Given the description of an element on the screen output the (x, y) to click on. 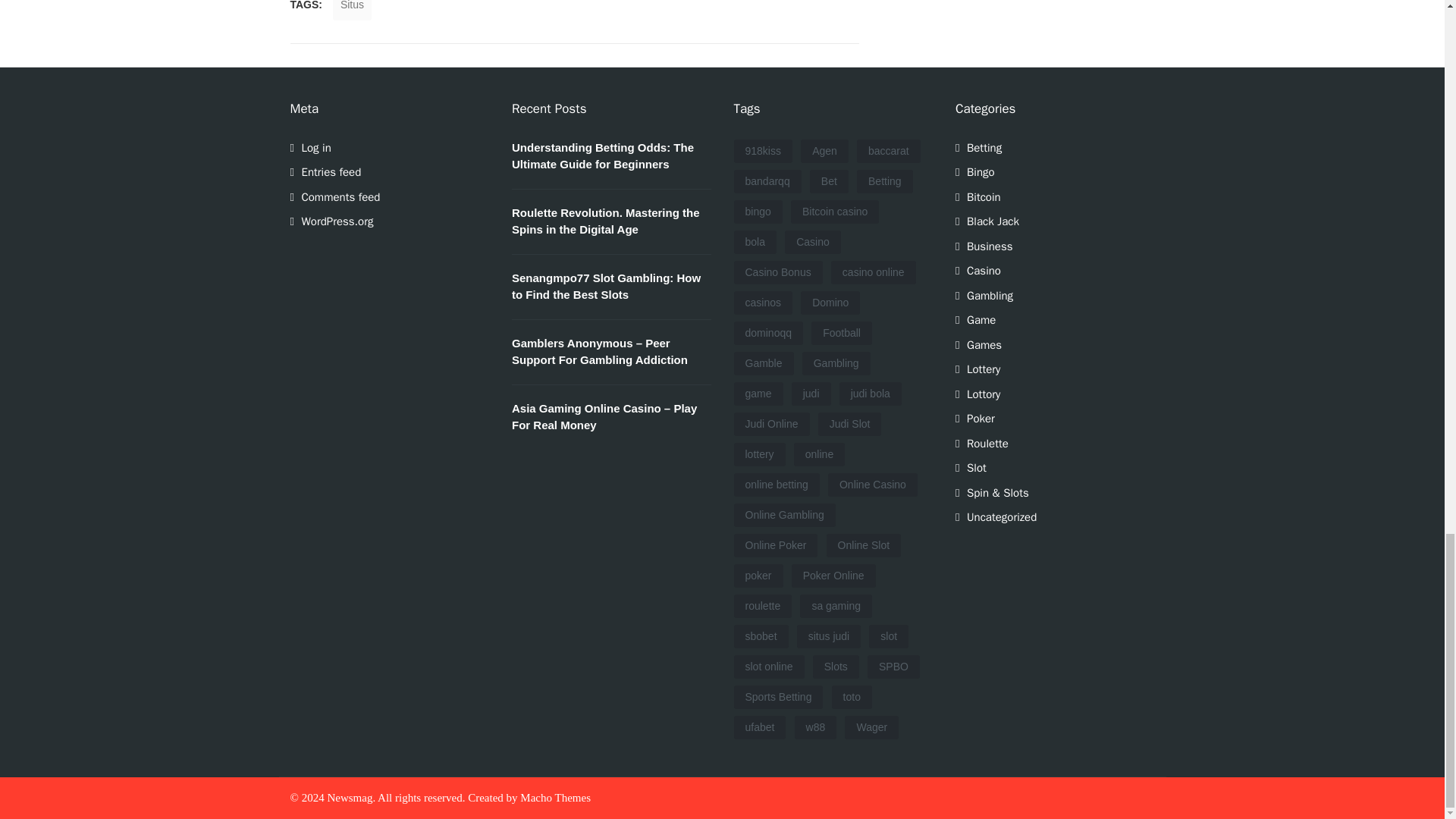
WordPress.org (337, 221)
Situs (352, 10)
Understanding Betting Odds: The Ultimate Guide for Beginners (603, 155)
Comments feed (340, 196)
Log in (316, 147)
Entries feed (331, 172)
Professional WordPress Themes (555, 797)
